Given the description of an element on the screen output the (x, y) to click on. 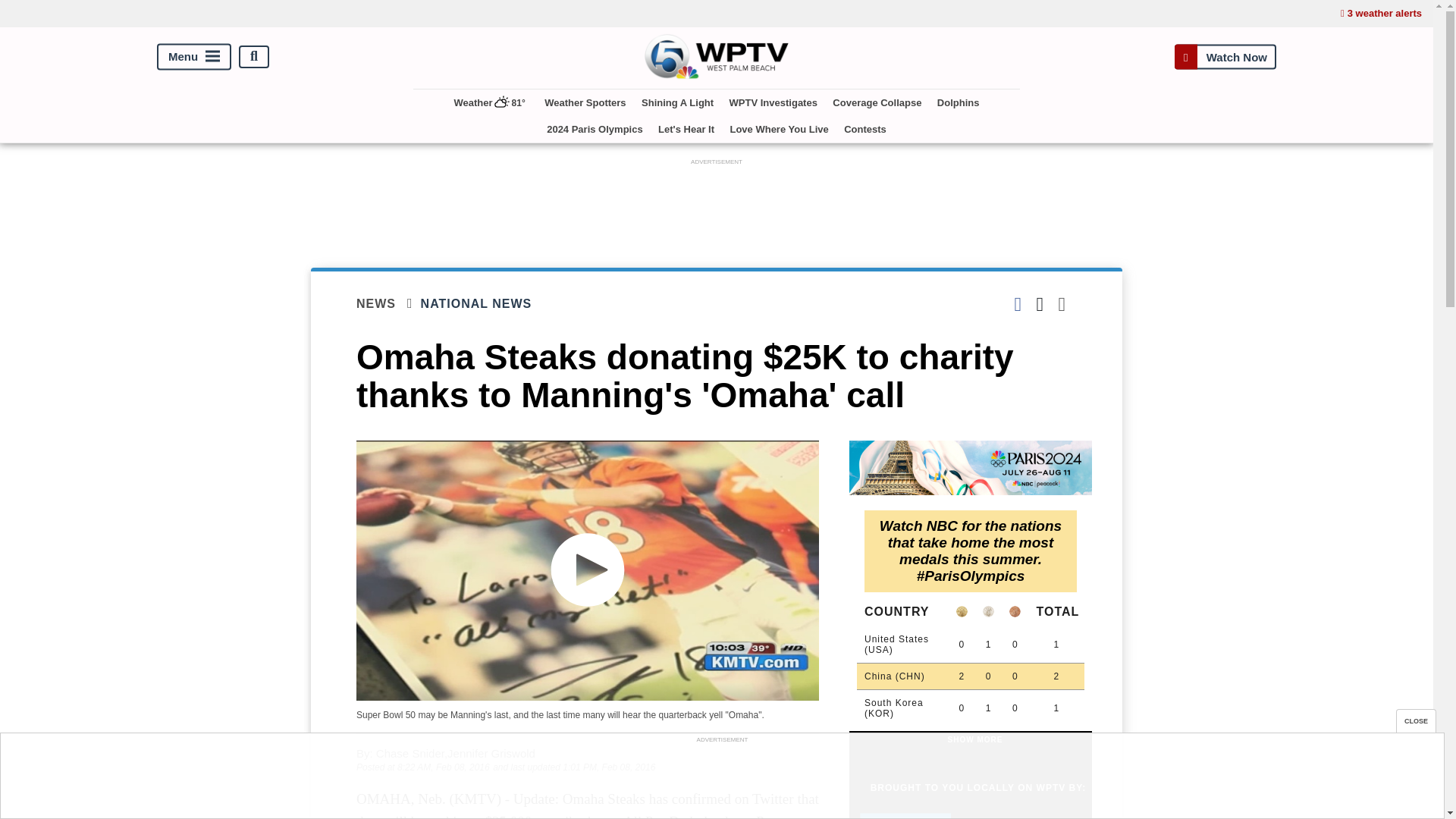
3rd party ad content (721, 780)
3rd party ad content (716, 202)
Menu (194, 56)
Watch Now (1224, 56)
